Given the description of an element on the screen output the (x, y) to click on. 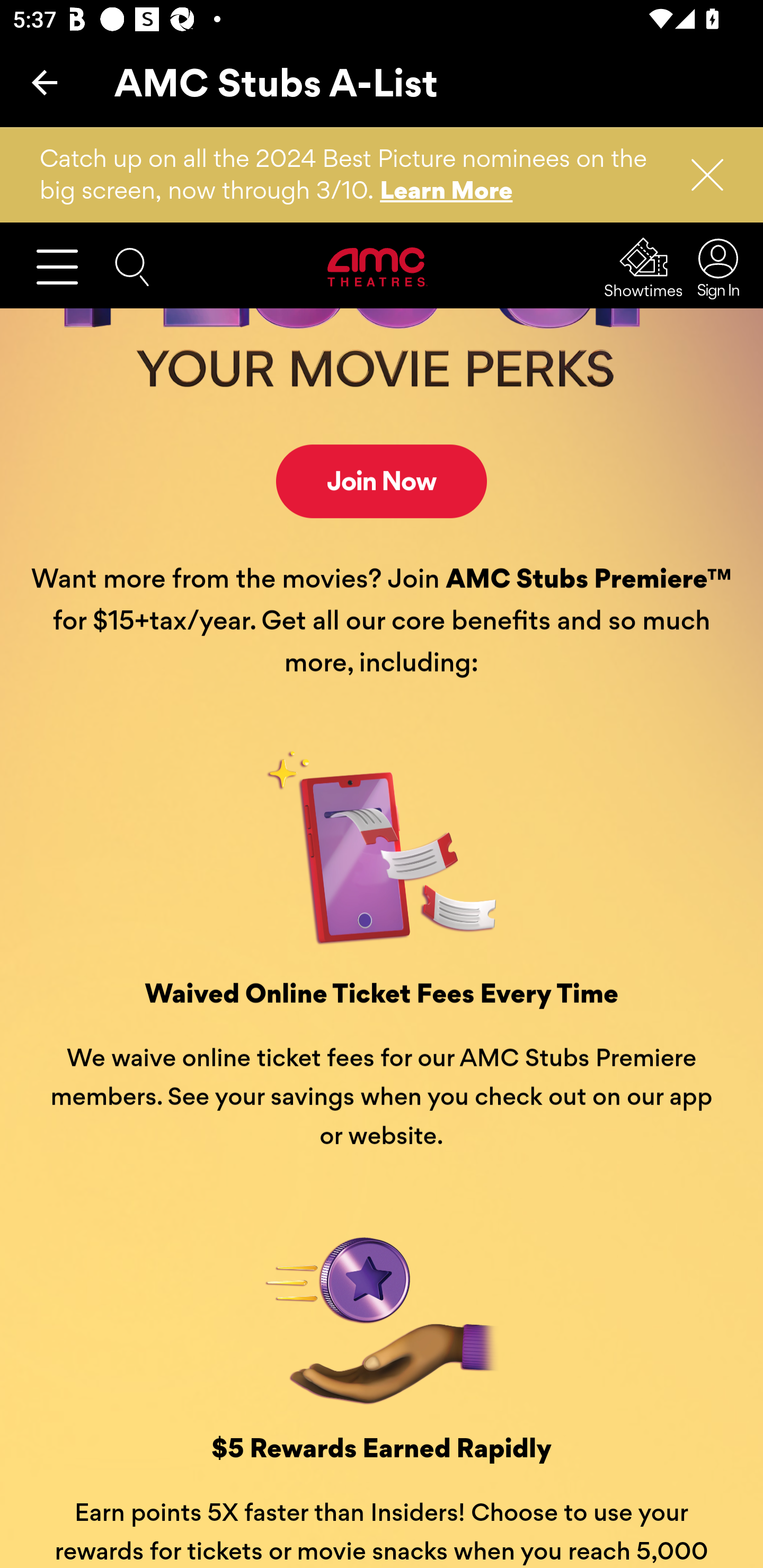
Back (44, 82)
Dismiss Notification (699, 175)
Learn More (446, 190)
Open Menu (64, 267)
Showtimes Showtimes Showtimes (643, 268)
Sign In (713, 268)
Search the AMC website (131, 266)
Visit Home Page AMC Theatres Logo (377, 266)
Join Now (381, 482)
